Given the description of an element on the screen output the (x, y) to click on. 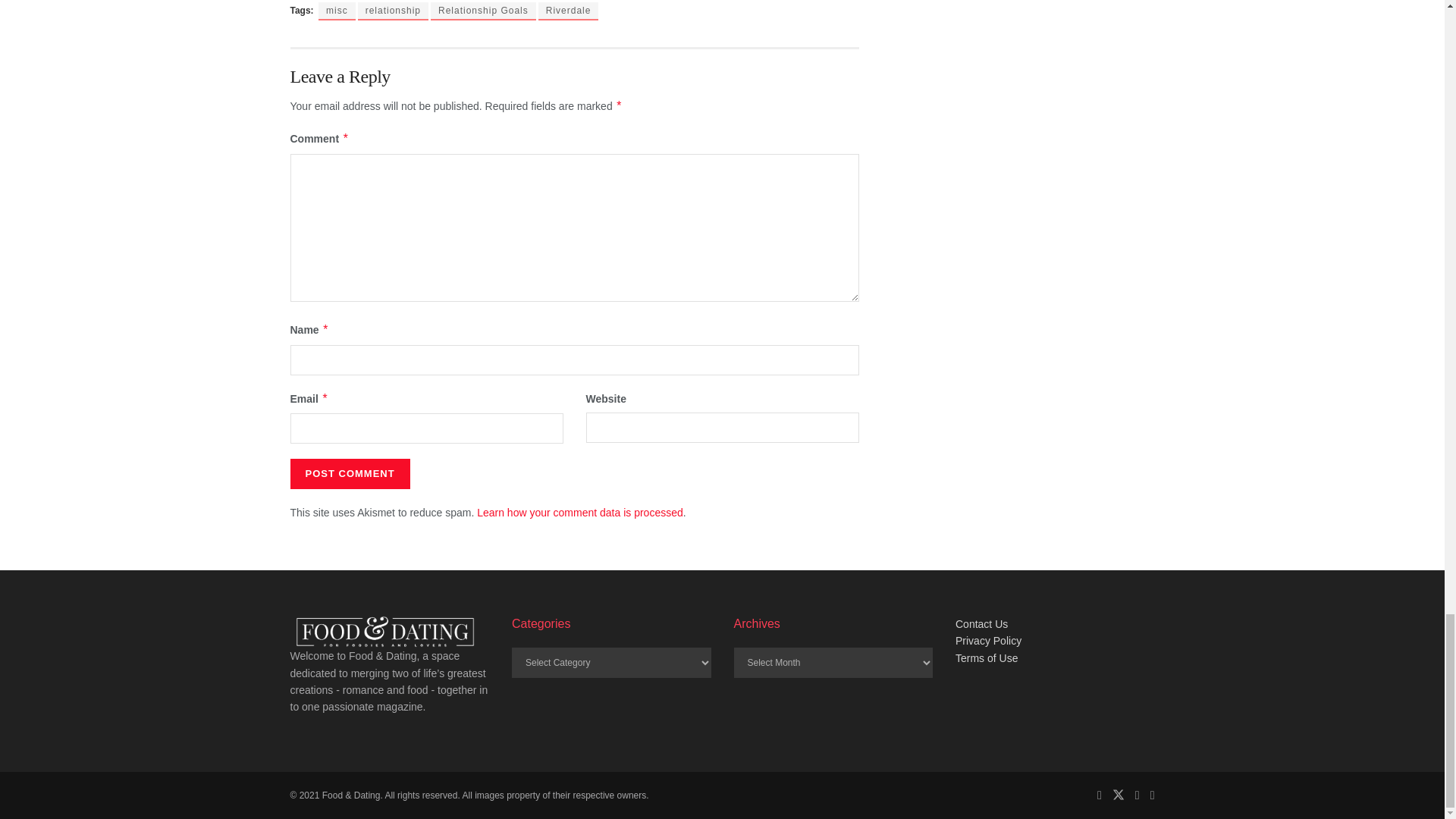
Post Comment (349, 473)
misc (336, 11)
Riverdale (568, 11)
relationship (393, 11)
Relationship Goals (482, 11)
